Given the description of an element on the screen output the (x, y) to click on. 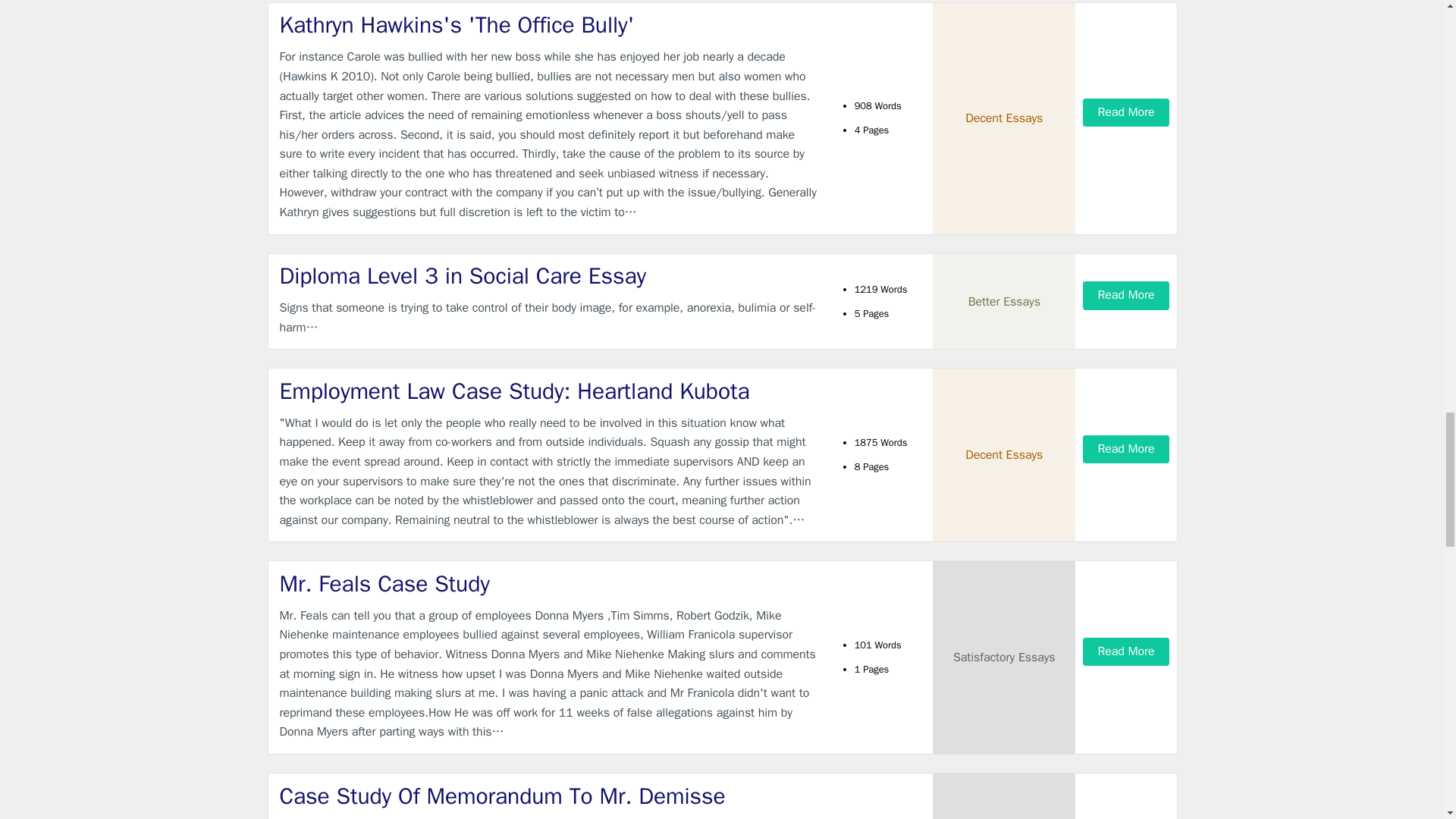
Read More (1126, 448)
Mr. Feals Case Study (548, 583)
Read More (1126, 112)
Kathryn Hawkins's 'The Office Bully' (548, 24)
Diploma Level 3 in Social Care Essay (548, 276)
Employment Law Case Study: Heartland Kubota (548, 391)
Read More (1126, 295)
